Given the description of an element on the screen output the (x, y) to click on. 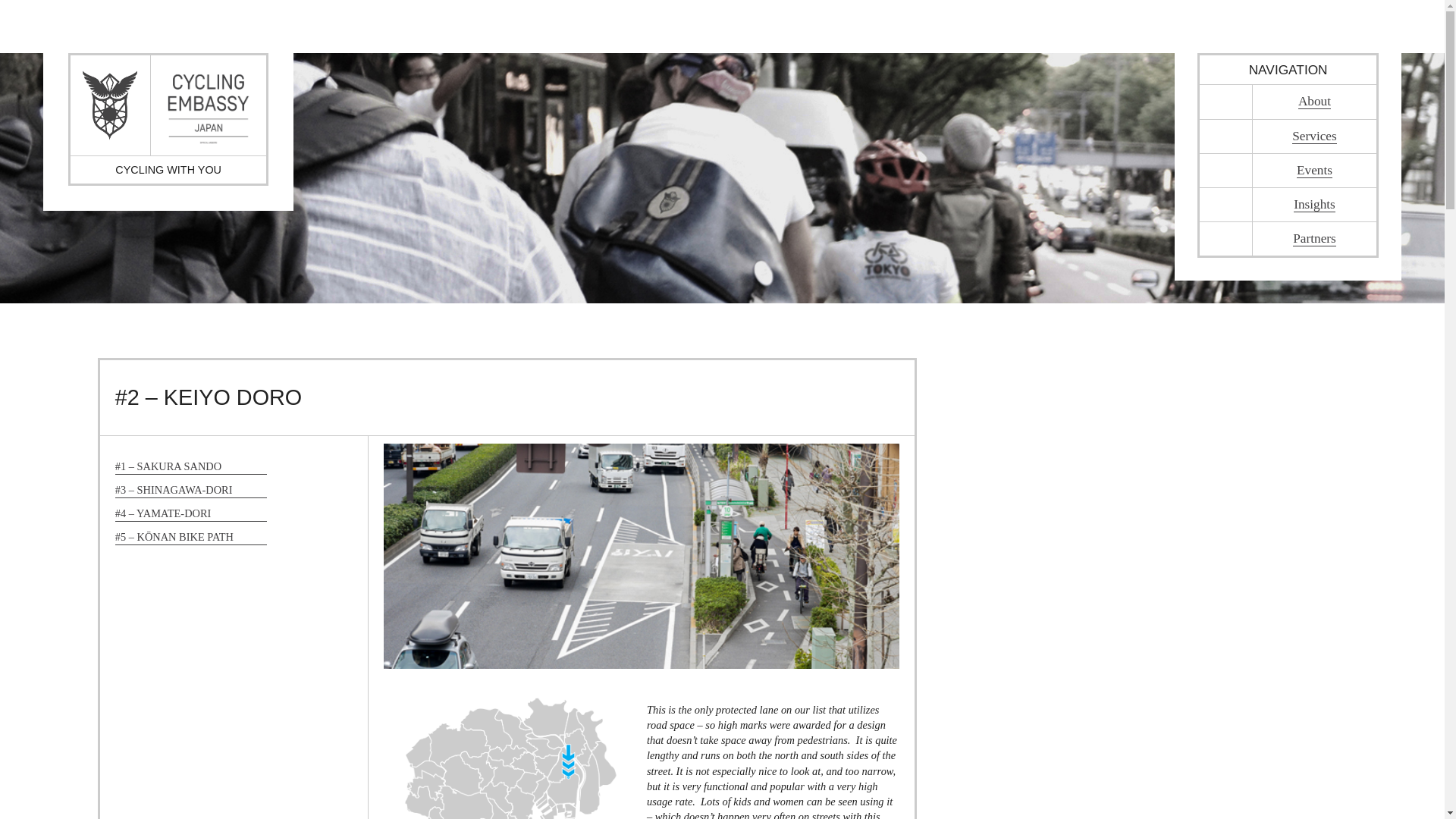
About (1314, 101)
Events (1314, 170)
Insights (1314, 204)
Partners (1314, 238)
Services (1314, 136)
